Given the description of an element on the screen output the (x, y) to click on. 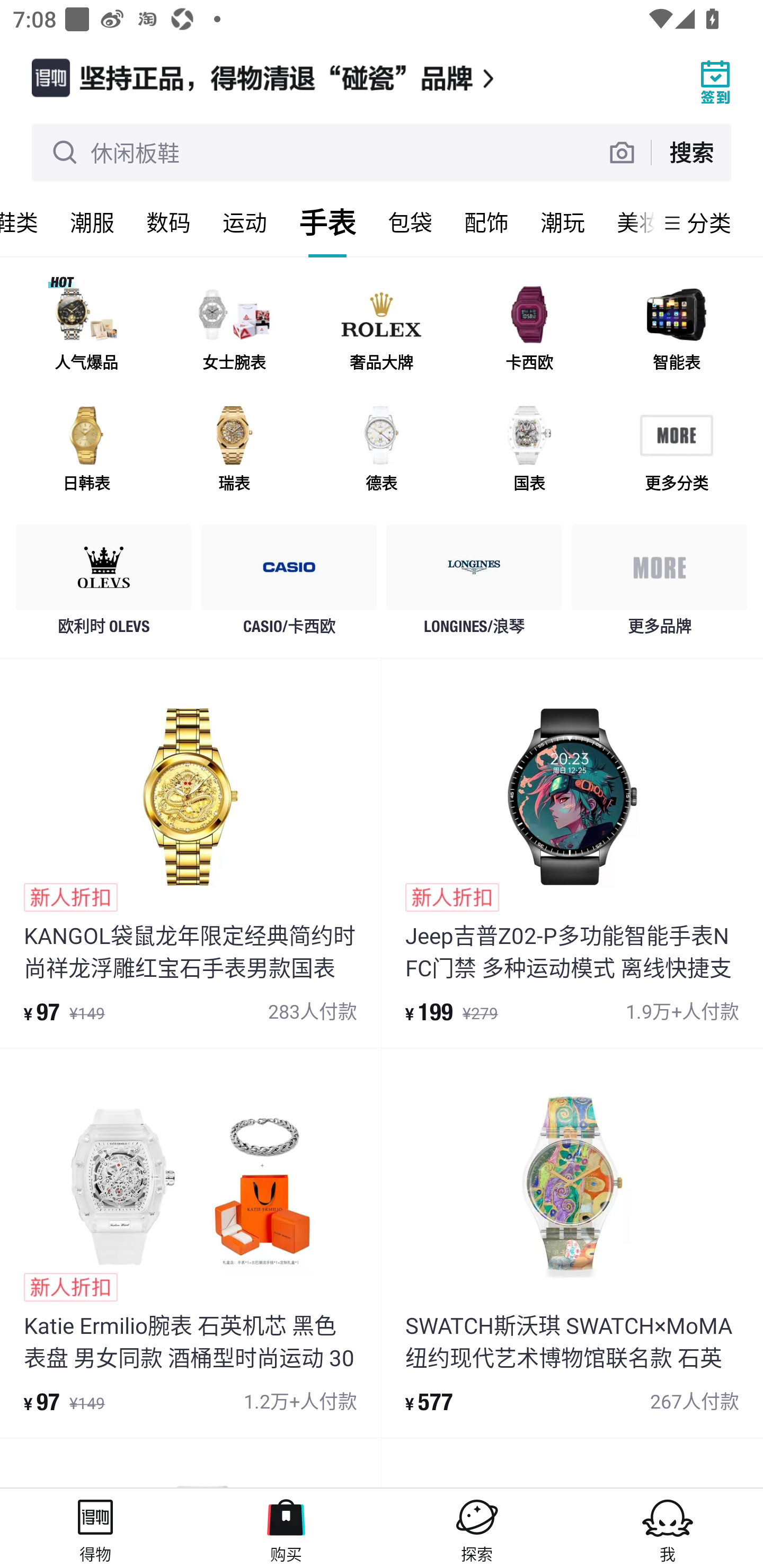
搜索 (690, 152)
鞋类 (27, 222)
潮服 (92, 222)
数码 (168, 222)
运动 (244, 222)
手表 (327, 222)
包袋 (410, 222)
配饰 (486, 222)
潮玩 (562, 222)
美妆 (627, 222)
分类 (708, 222)
人气爆品 (86, 329)
女士腕表 (233, 329)
奢品大牌 (381, 329)
卡西欧 (528, 329)
智能表 (676, 329)
日韩表 (86, 450)
瑞表 (233, 450)
德表 (381, 450)
国表 (528, 450)
更多分类 (676, 450)
欧利时 OLEVS (103, 583)
CASIO/卡西欧 (288, 583)
LONGINES/浪琴 (473, 583)
更多品牌 (658, 583)
得物 (95, 1528)
购买 (285, 1528)
探索 (476, 1528)
我 (667, 1528)
